Given the description of an element on the screen output the (x, y) to click on. 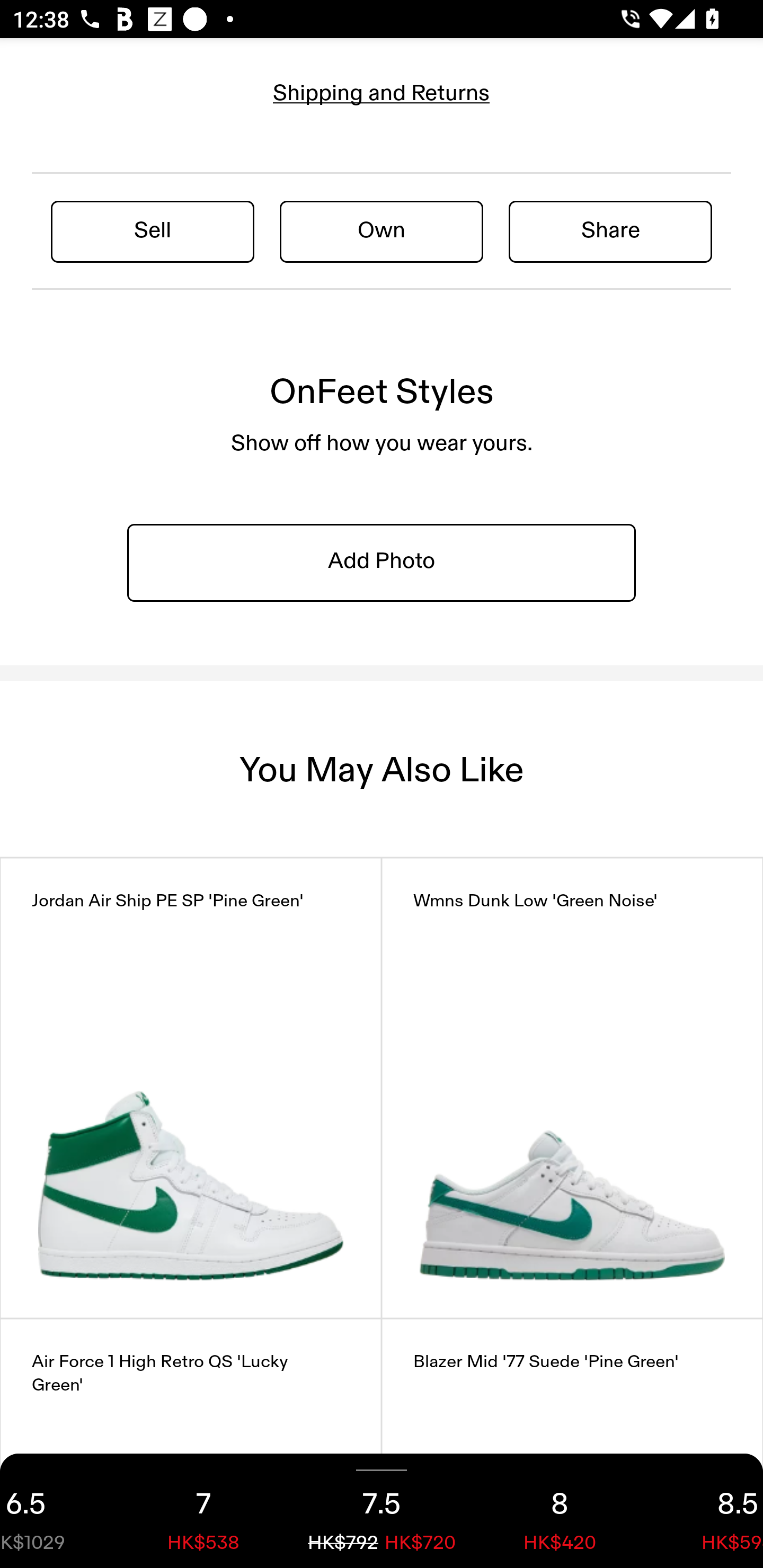
Shipping and Returns (381, 93)
Sell (152, 231)
Own (381, 231)
Share (609, 231)
Add Photo (381, 562)
Jordan Air Ship PE SP 'Pine Green' (190, 1087)
Wmns Dunk Low 'Green Noise' (572, 1087)
Air Force 1 High Retro QS 'Lucky Green' (190, 1443)
Blazer Mid '77 Suede 'Pine Green' (572, 1443)
6.5 HK$1029 (57, 1510)
7 HK$538 (203, 1510)
7.5 HK$792 HK$720 (381, 1510)
8 HK$420 (559, 1510)
8.5 HK$594 (705, 1510)
